Given the description of an element on the screen output the (x, y) to click on. 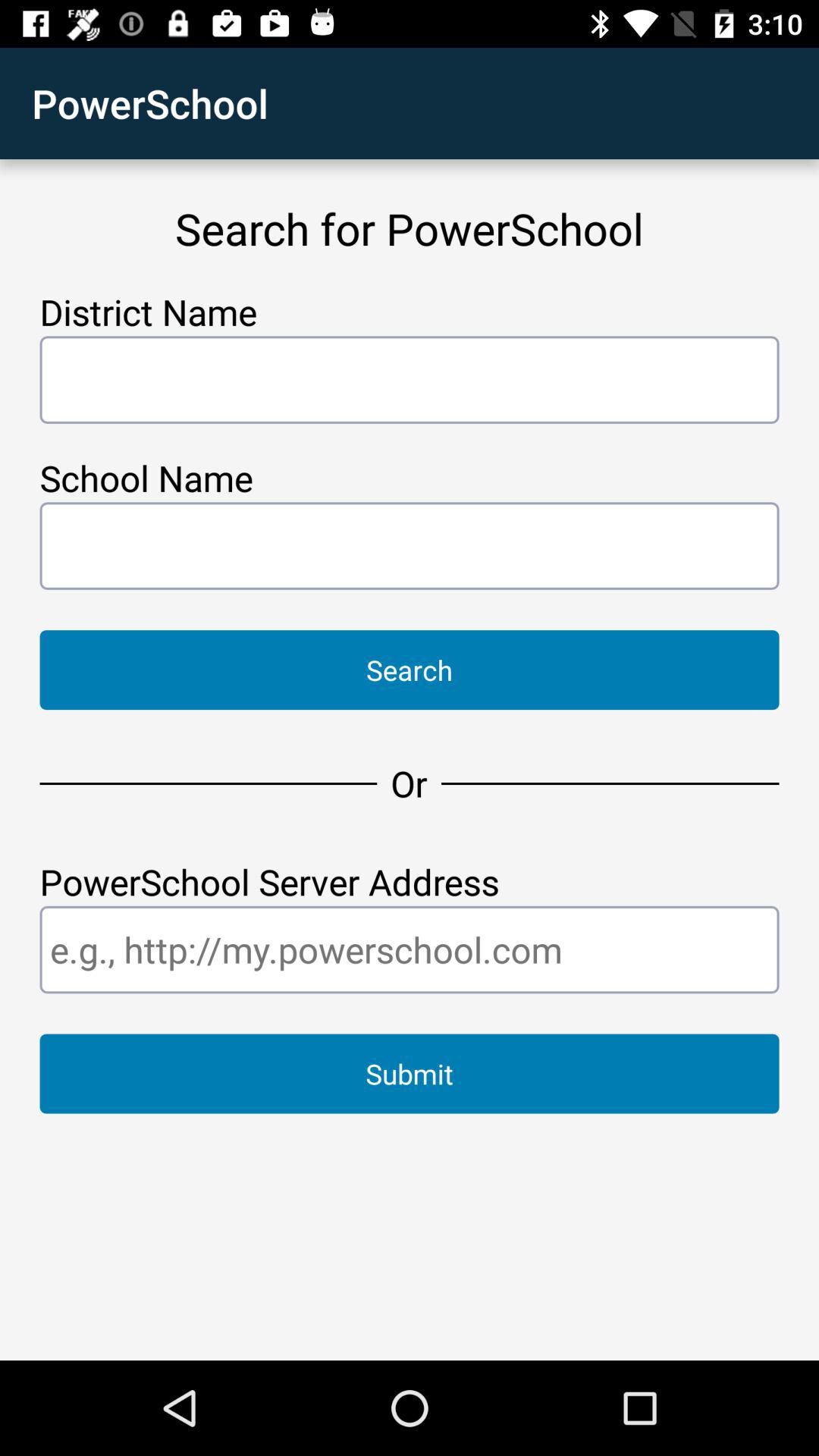
type website address (409, 949)
